Given the description of an element on the screen output the (x, y) to click on. 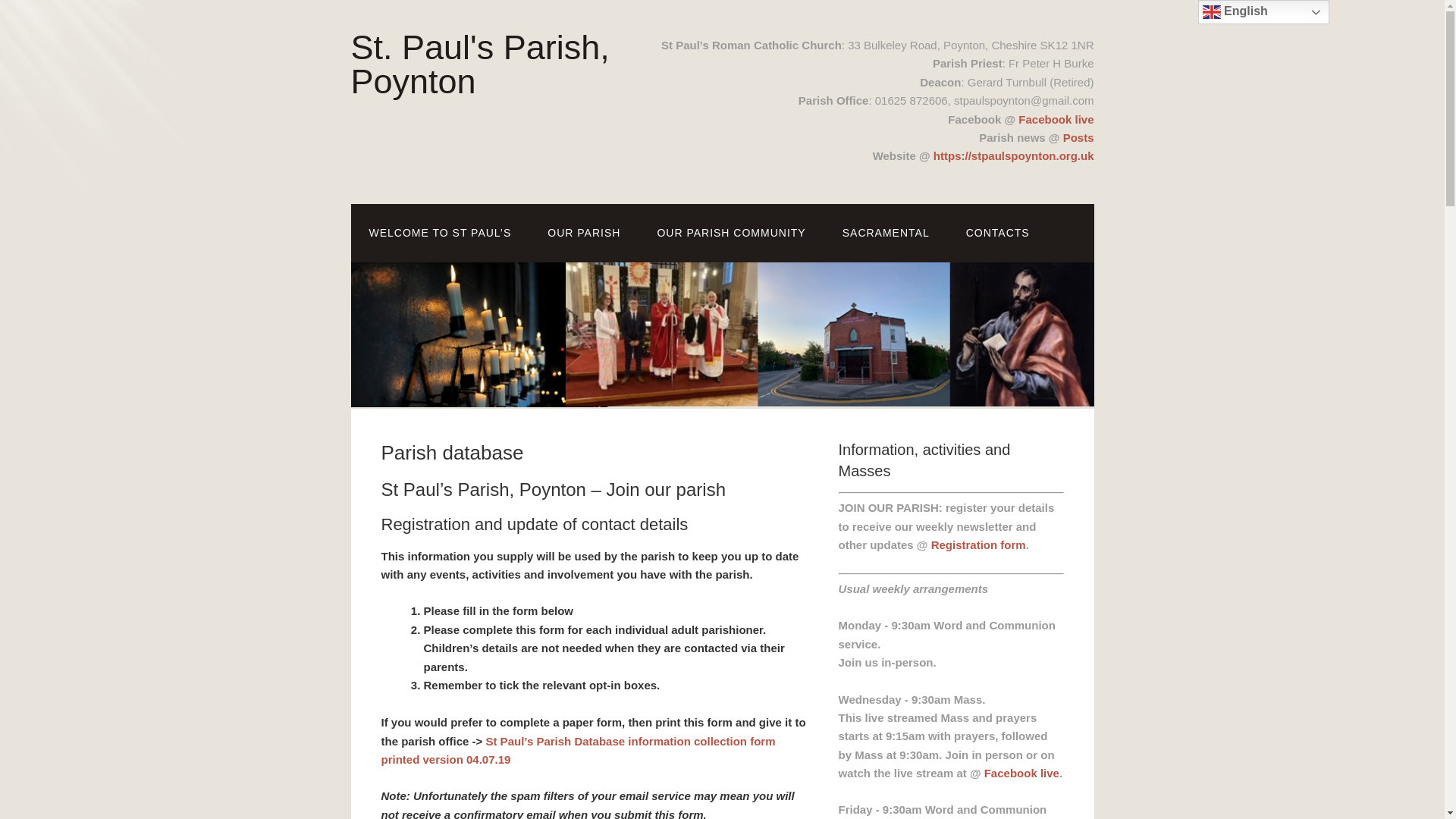
OUR PARISH COMMUNITY (731, 232)
St. Paul's Parish, Poynton (479, 63)
OUR PARISH (584, 232)
St. Paul's Parish, Poynton (479, 63)
Facebook live (1055, 118)
Posts (1078, 137)
